Given the description of an element on the screen output the (x, y) to click on. 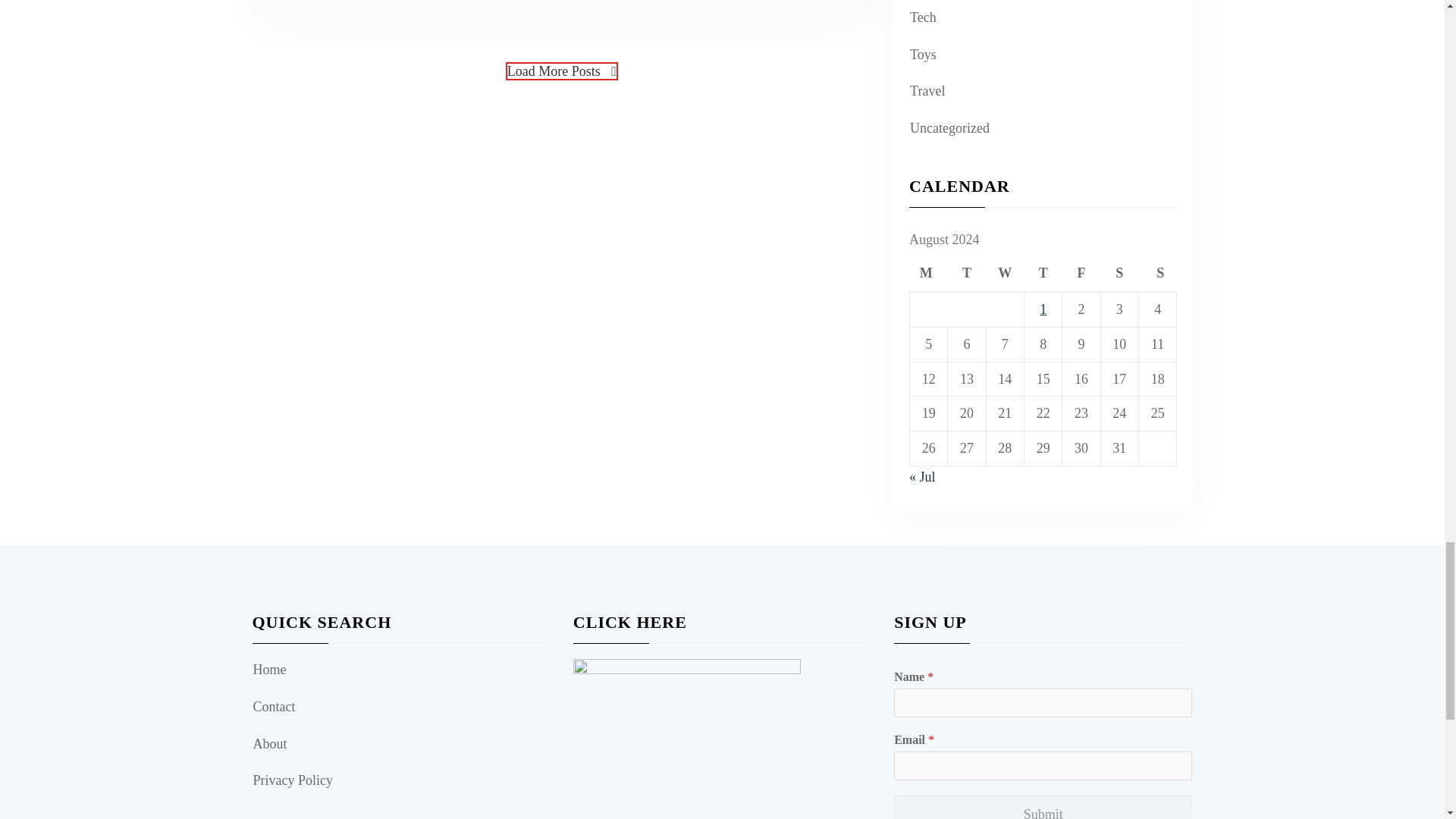
Tuesday (966, 274)
Friday (1081, 274)
Load More Posts (561, 71)
Sunday (1157, 274)
Saturday (1119, 274)
Monday (928, 274)
Thursday (1043, 274)
Wednesday (1004, 274)
